Given the description of an element on the screen output the (x, y) to click on. 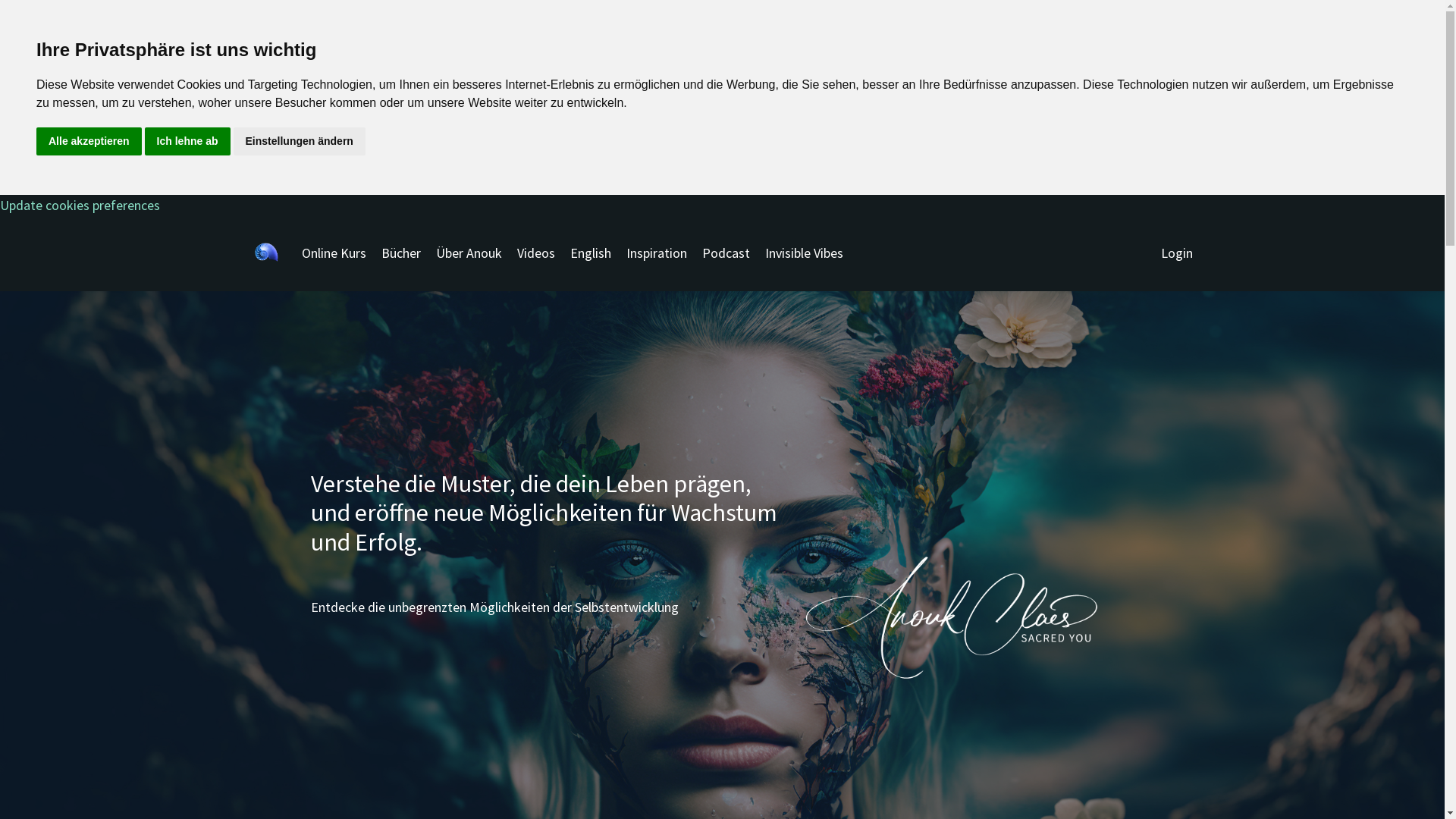
Online Kurs Element type: text (333, 253)
Ich lehne ab Element type: text (187, 141)
Alle akzeptieren Element type: text (88, 141)
Podcast Element type: text (725, 253)
Inspiration Element type: text (656, 253)
English Element type: text (590, 253)
Invisible Vibes Element type: text (803, 253)
Update cookies preferences Element type: text (722, 205)
Videos Element type: text (536, 253)
Login Element type: text (1176, 252)
